Given the description of an element on the screen output the (x, y) to click on. 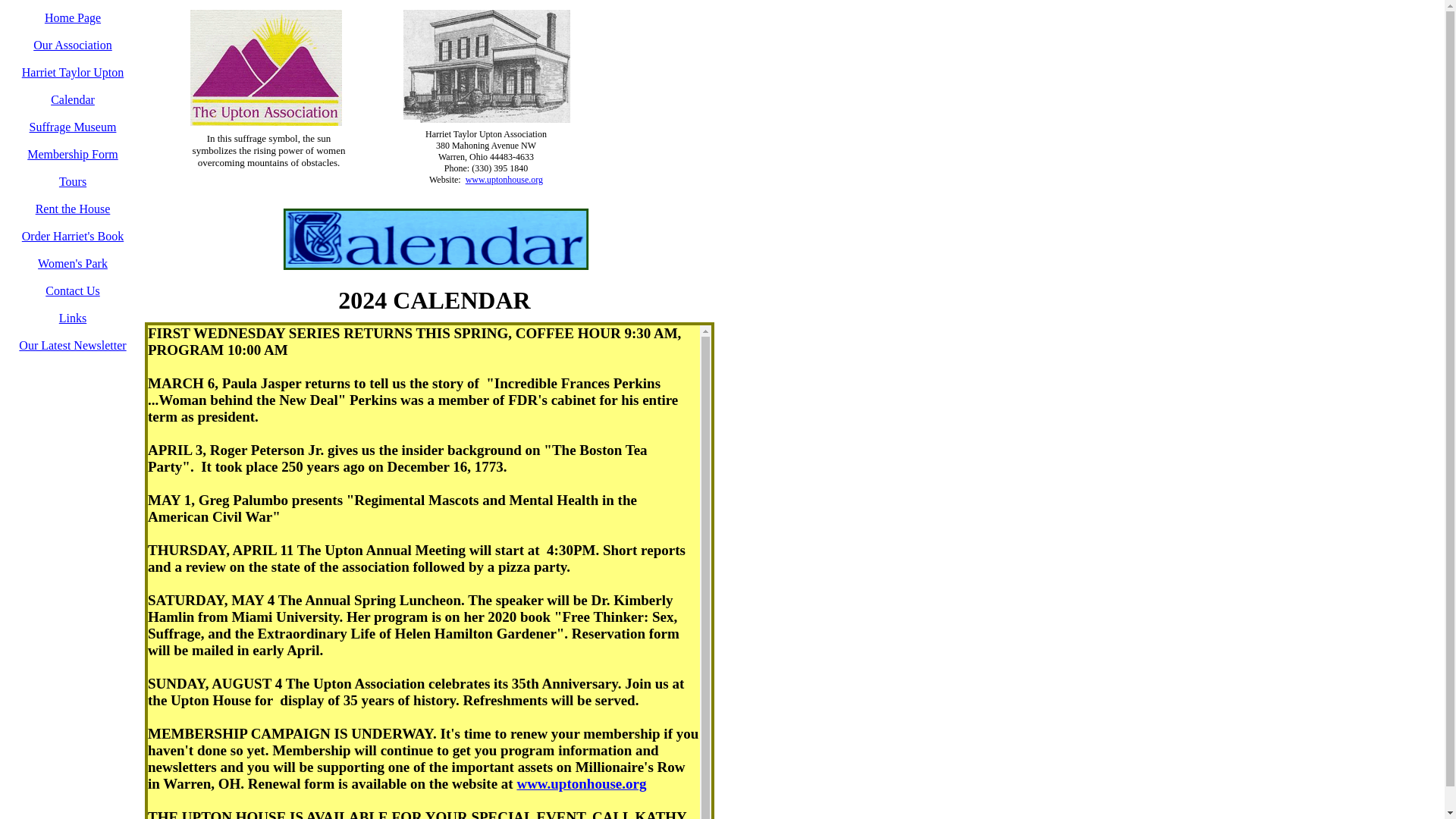
Women's Park (72, 263)
Links (72, 318)
Harriet Taylor Upton (72, 72)
Order Harriet's Book (72, 236)
www.uptonhouse.org (504, 179)
Our Latest Newsletter (71, 345)
Tours (72, 181)
www.uptonhouse.org (581, 783)
Membership Form (72, 154)
Our Association (72, 44)
Rent the House (72, 208)
Suffrage Museum (72, 126)
Home Page (72, 17)
Contact Us (72, 290)
Calendar (72, 99)
